Given the description of an element on the screen output the (x, y) to click on. 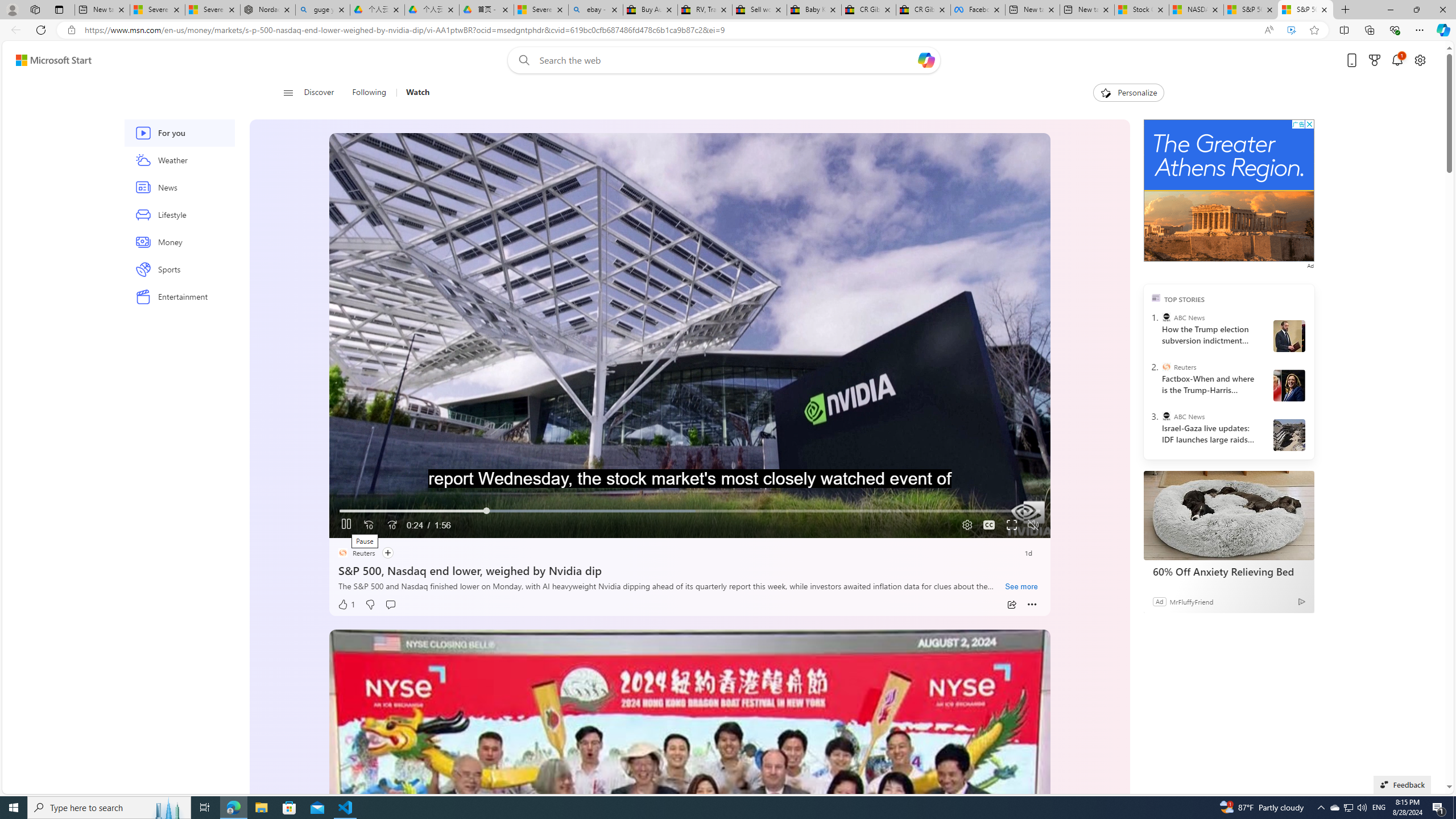
Skip to content (49, 59)
1 Like (345, 604)
Facebook (978, 9)
Sell worldwide with eBay (760, 9)
Enhance video (1291, 29)
More (1031, 604)
Web search (520, 60)
